Given the description of an element on the screen output the (x, y) to click on. 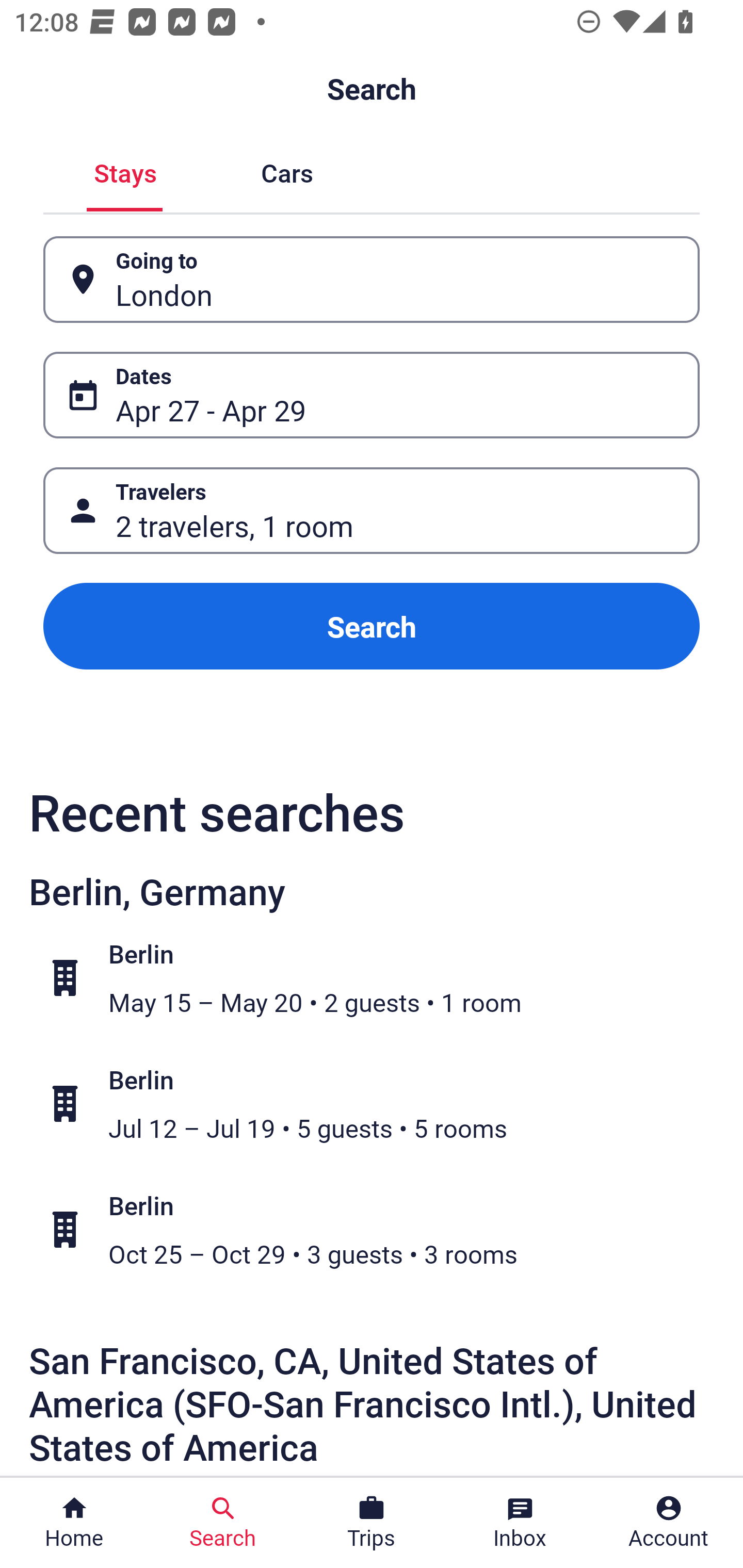
Cars (286, 171)
Going to Button London (371, 279)
Dates Button Apr 27 - Apr 29 (371, 395)
Travelers Button 2 travelers, 1 room (371, 510)
Search (371, 626)
Berlin May 15 – May 20 • 2 guests • 1 room (382, 978)
Berlin Jul 12 – Jul 19 • 5 guests • 5 rooms (382, 1103)
Berlin Oct 25 – Oct 29 • 3 guests • 3 rooms (382, 1229)
Home Home Button (74, 1522)
Trips Trips Button (371, 1522)
Inbox Inbox Button (519, 1522)
Account Profile. Button (668, 1522)
